Given the description of an element on the screen output the (x, y) to click on. 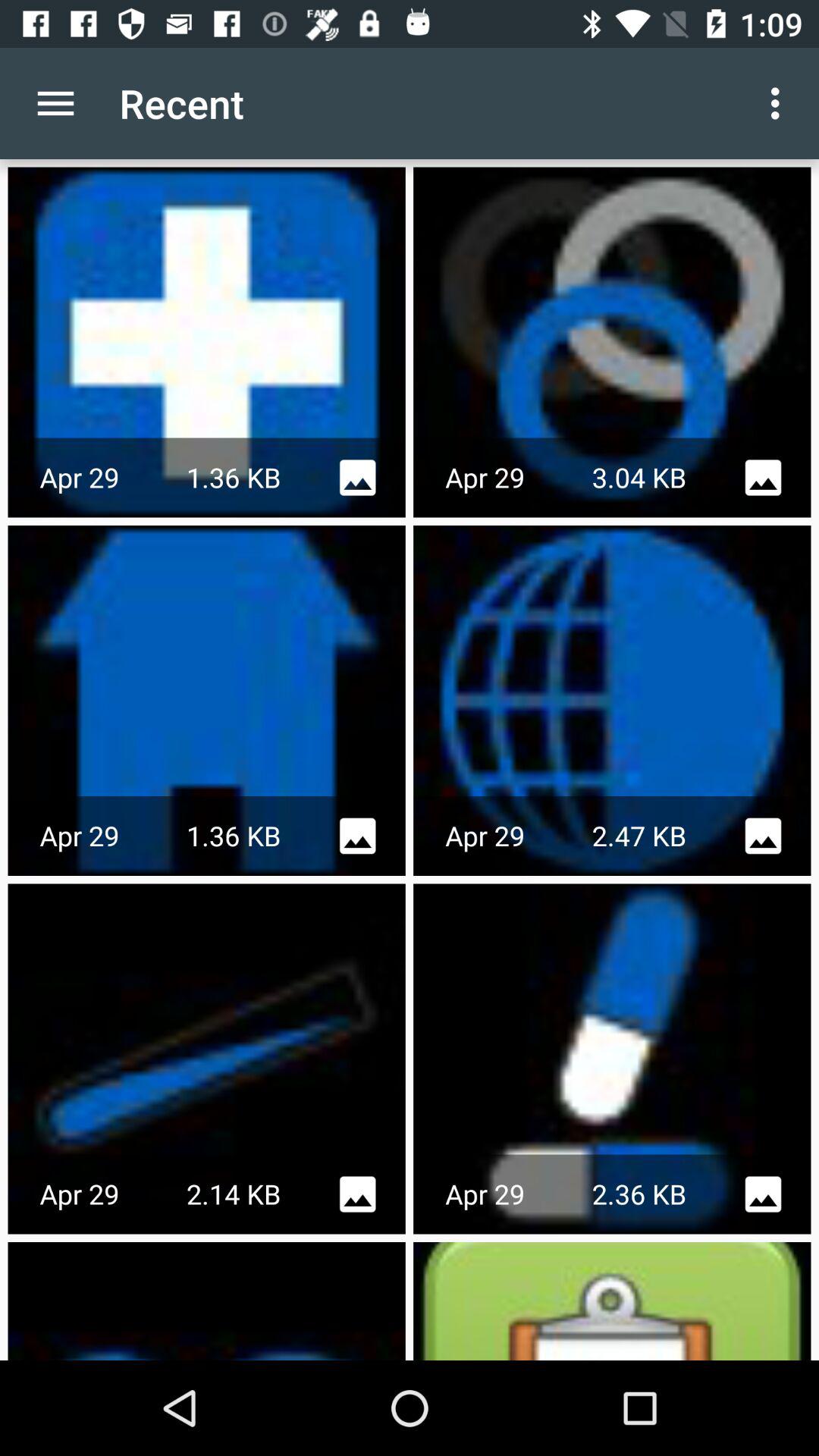
open the app next to recent icon (779, 103)
